Given the description of an element on the screen output the (x, y) to click on. 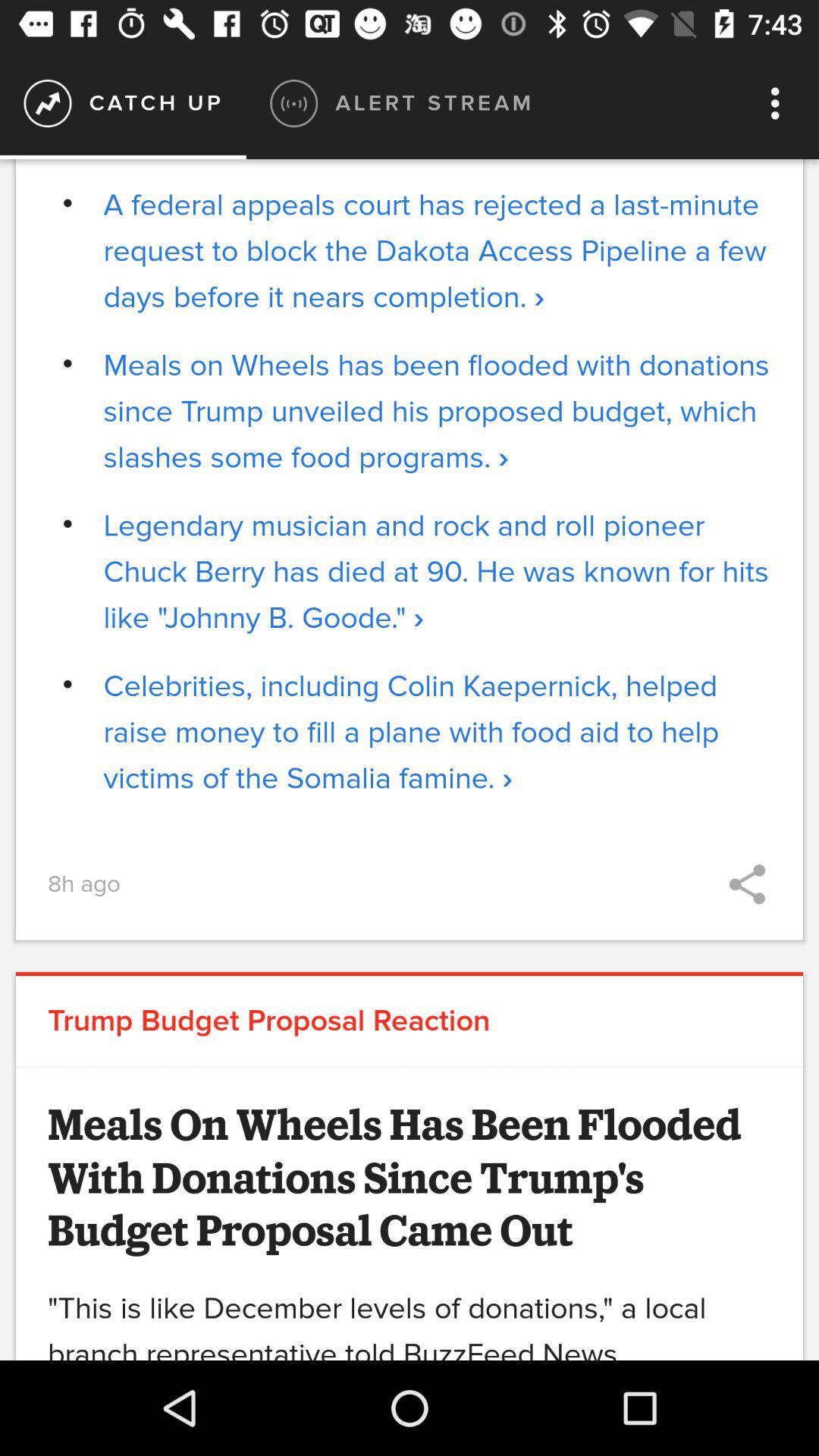
press icon below celebrities including colin icon (747, 884)
